Given the description of an element on the screen output the (x, y) to click on. 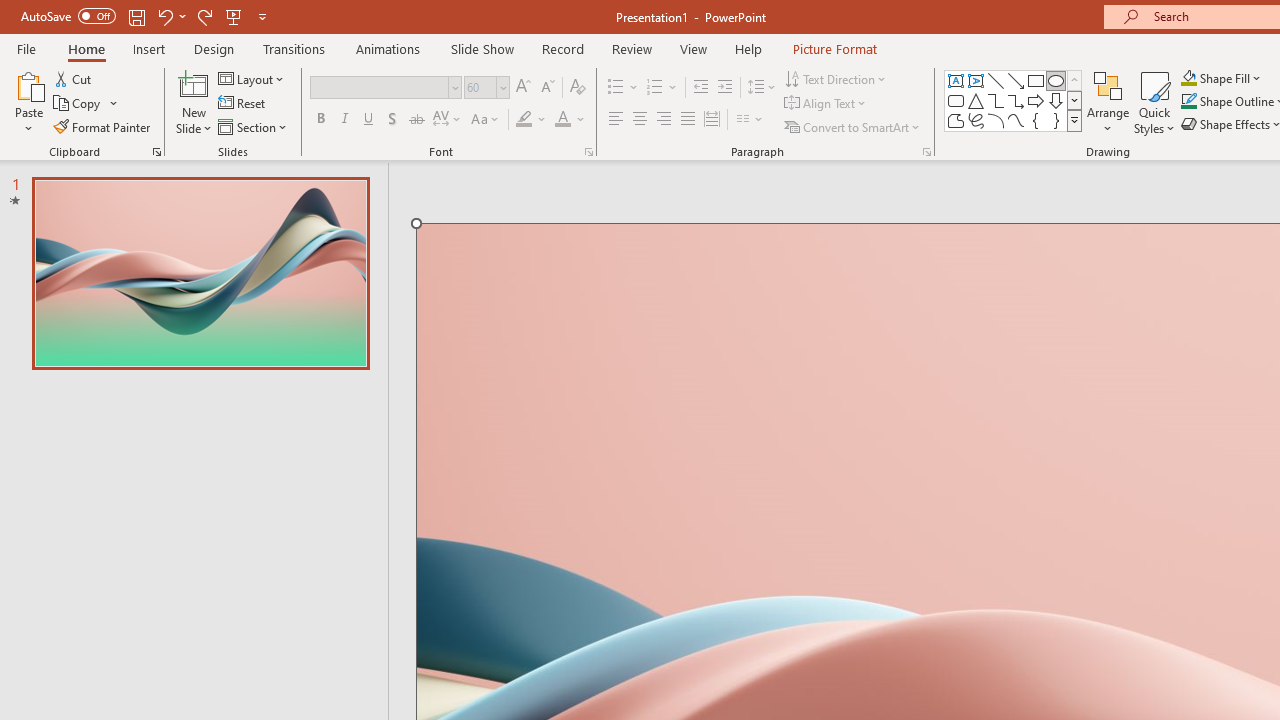
Picture Format (834, 48)
